Given the description of an element on the screen output the (x, y) to click on. 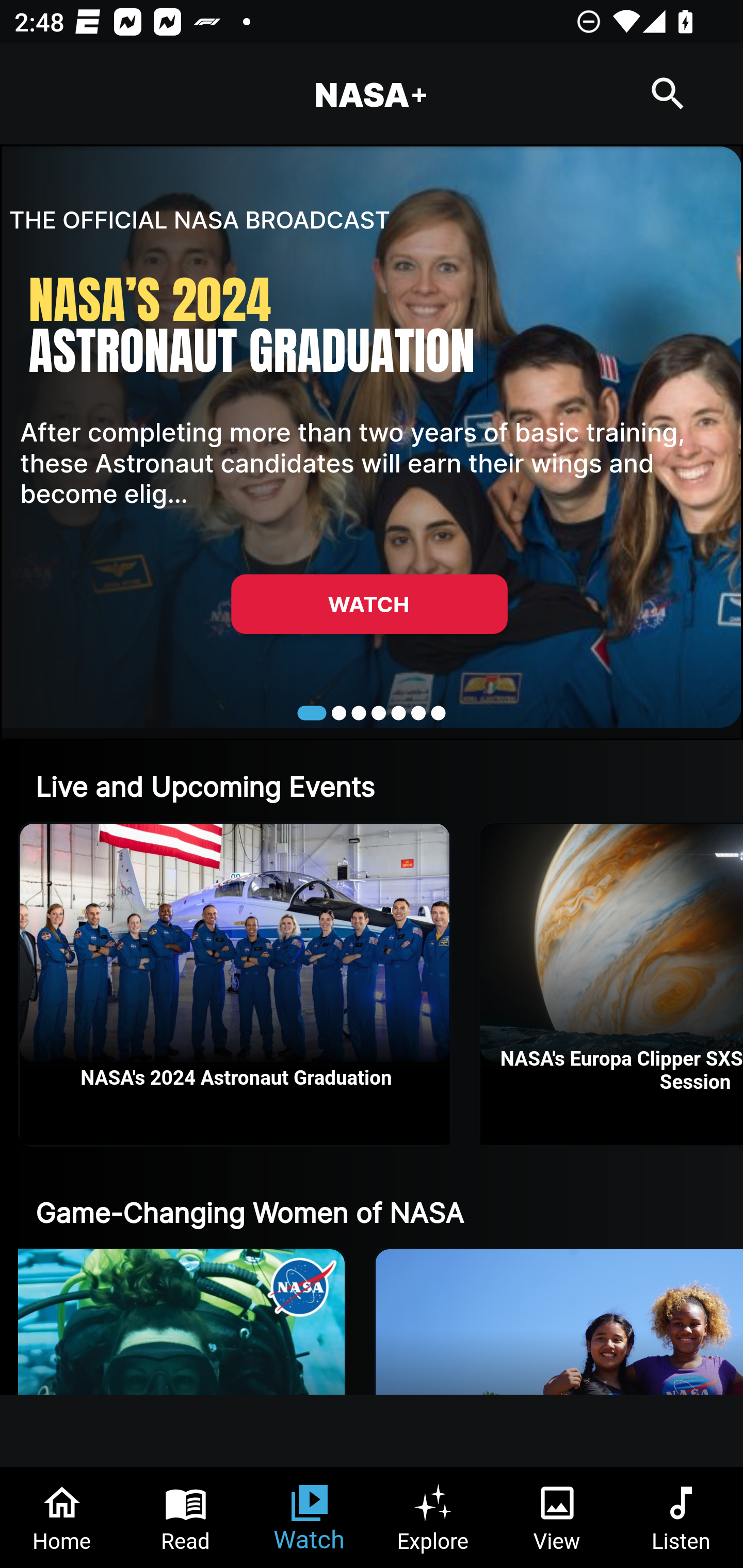
WATCH (369, 603)
NASA's 2024 Astronaut Graduation (235, 983)
NASA's Europa Clipper SXSW 2024 Opening Session (611, 983)
Home
Tab 1 of 6 (62, 1517)
Read
Tab 2 of 6 (185, 1517)
Watch
Tab 3 of 6 (309, 1517)
Explore
Tab 4 of 6 (433, 1517)
View
Tab 5 of 6 (556, 1517)
Listen
Tab 6 of 6 (680, 1517)
